Given the description of an element on the screen output the (x, y) to click on. 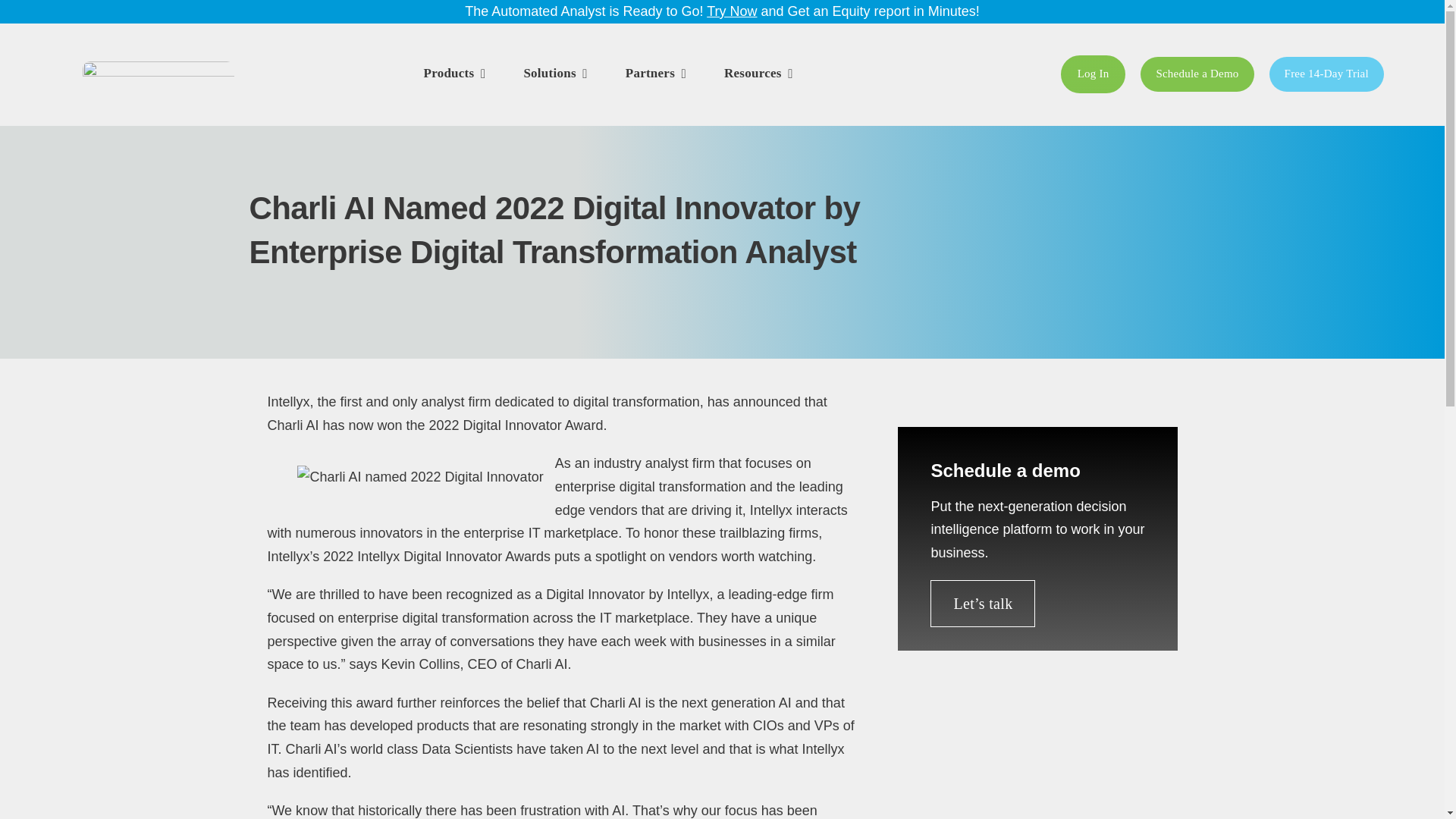
Try Now (731, 11)
Products (454, 74)
Solutions (554, 74)
